Given the description of an element on the screen output the (x, y) to click on. 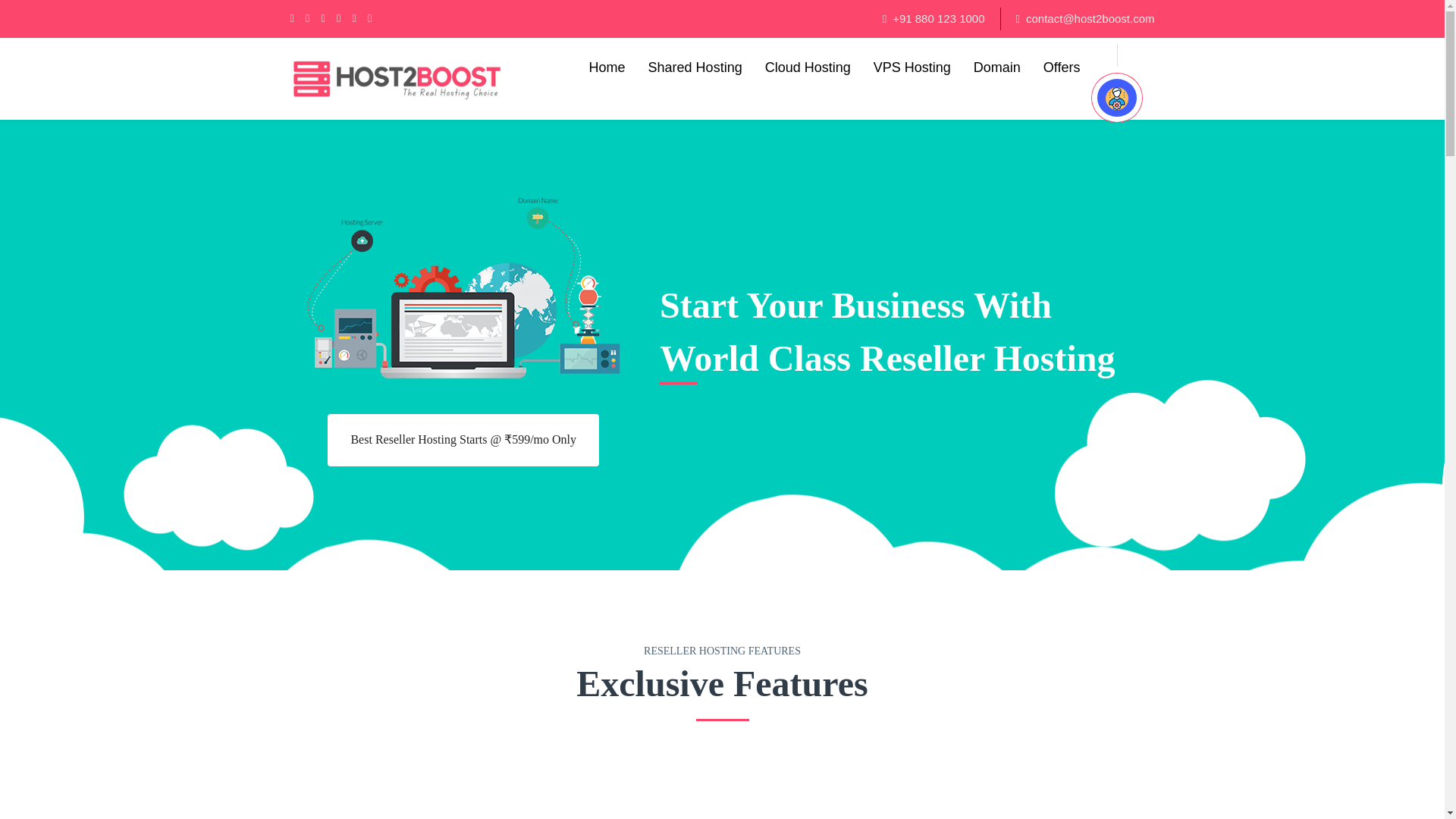
Offers (1061, 67)
Home (607, 67)
VPS Hosting (911, 67)
Offers (1061, 67)
Cloud Hosting (807, 67)
Domain (997, 67)
Shared Hosting (694, 67)
Cloud Hosting (807, 67)
ClientArea (1116, 97)
VPS Hosting (911, 67)
Home (607, 67)
Domain (997, 67)
Shared Hosting (694, 67)
